Given the description of an element on the screen output the (x, y) to click on. 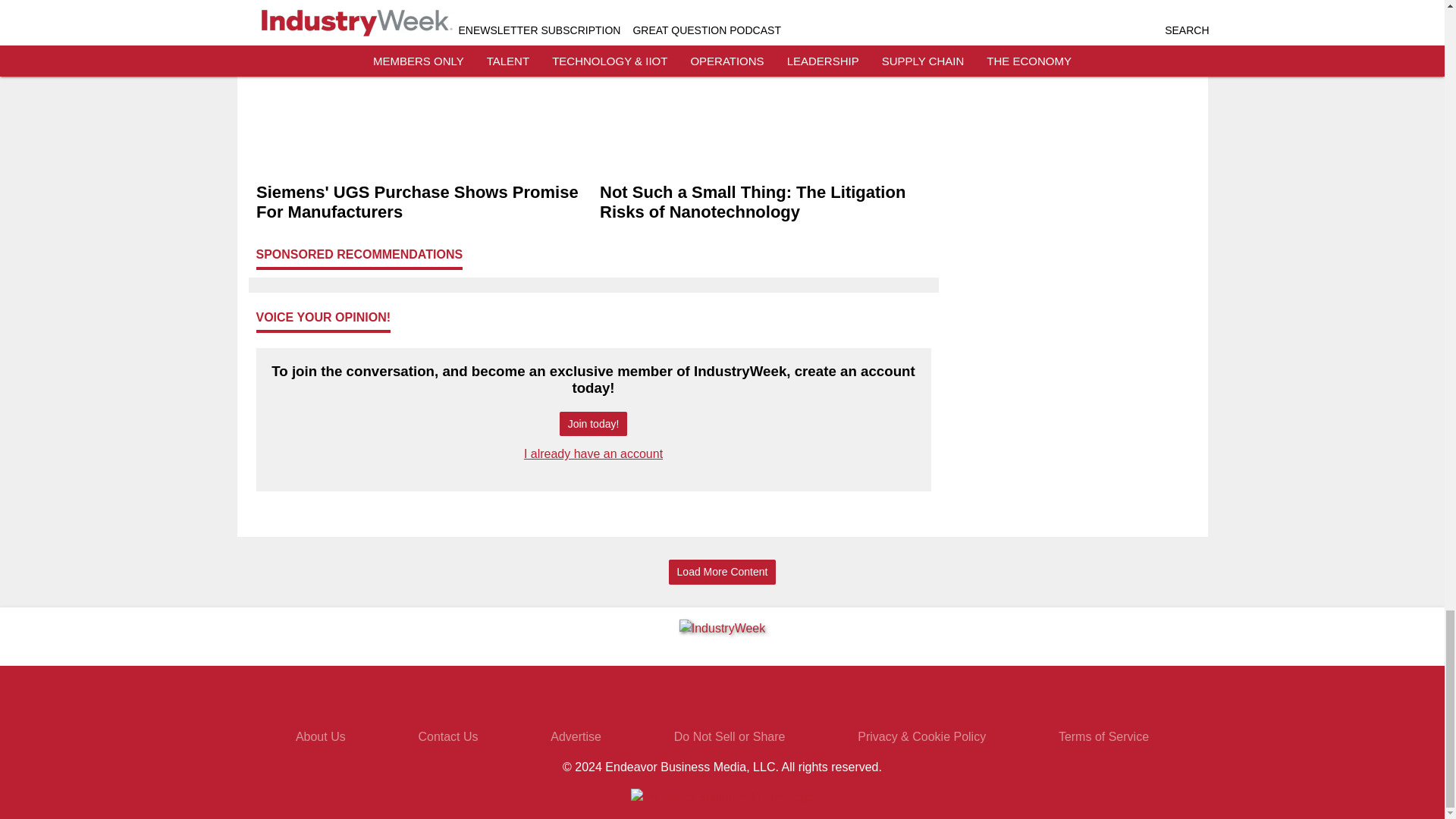
I already have an account (593, 453)
Siemens' UGS Purchase Shows Promise For Manufacturers (422, 201)
Join today! (593, 423)
